Given the description of an element on the screen output the (x, y) to click on. 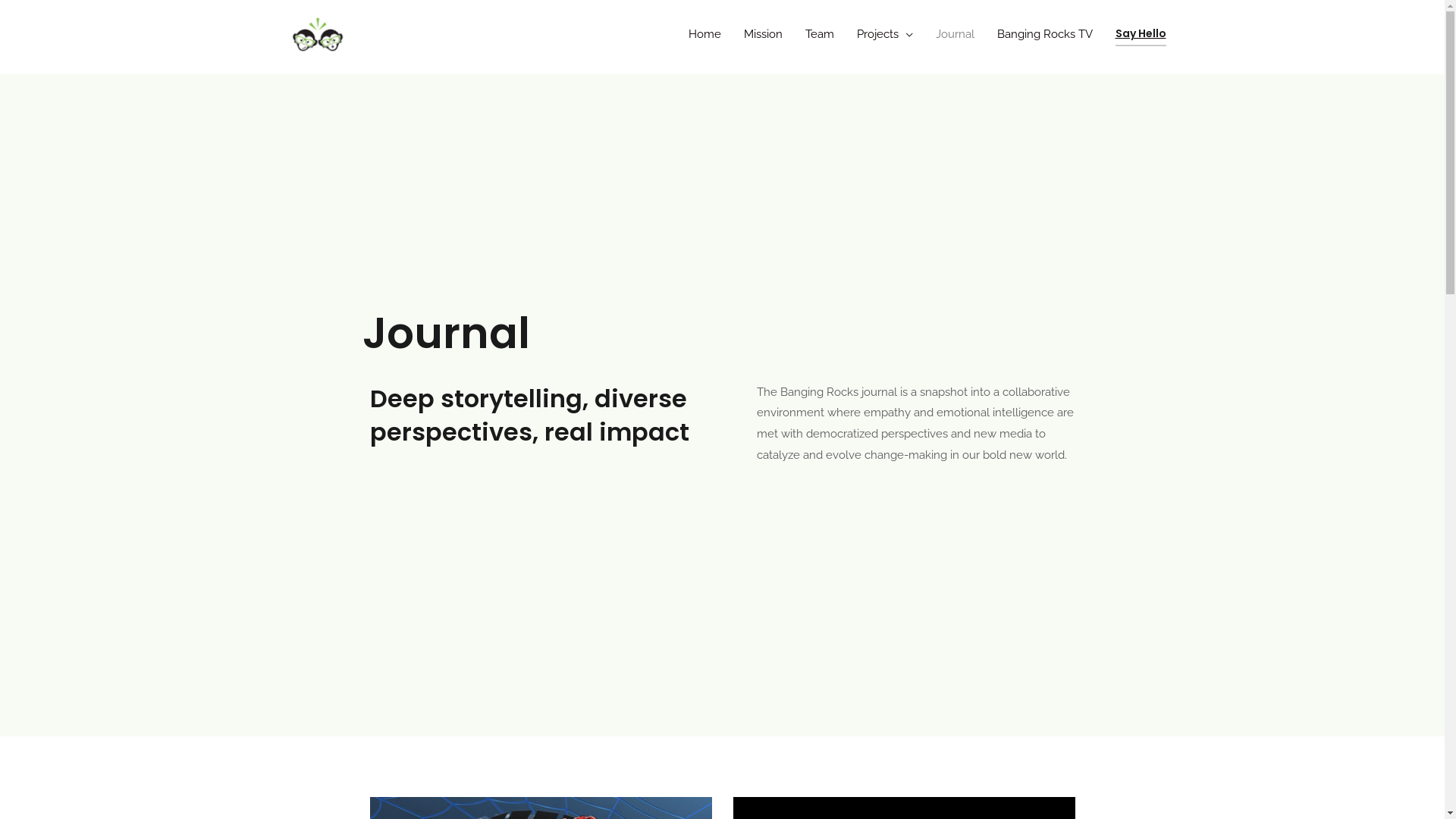
Projects Element type: text (883, 33)
Team Element type: text (818, 33)
Say Hello Element type: text (1139, 33)
Journal Element type: text (954, 33)
Home Element type: text (703, 33)
Banging Rocks TV Element type: text (1044, 33)
Mission Element type: text (762, 33)
